Given the description of an element on the screen output the (x, y) to click on. 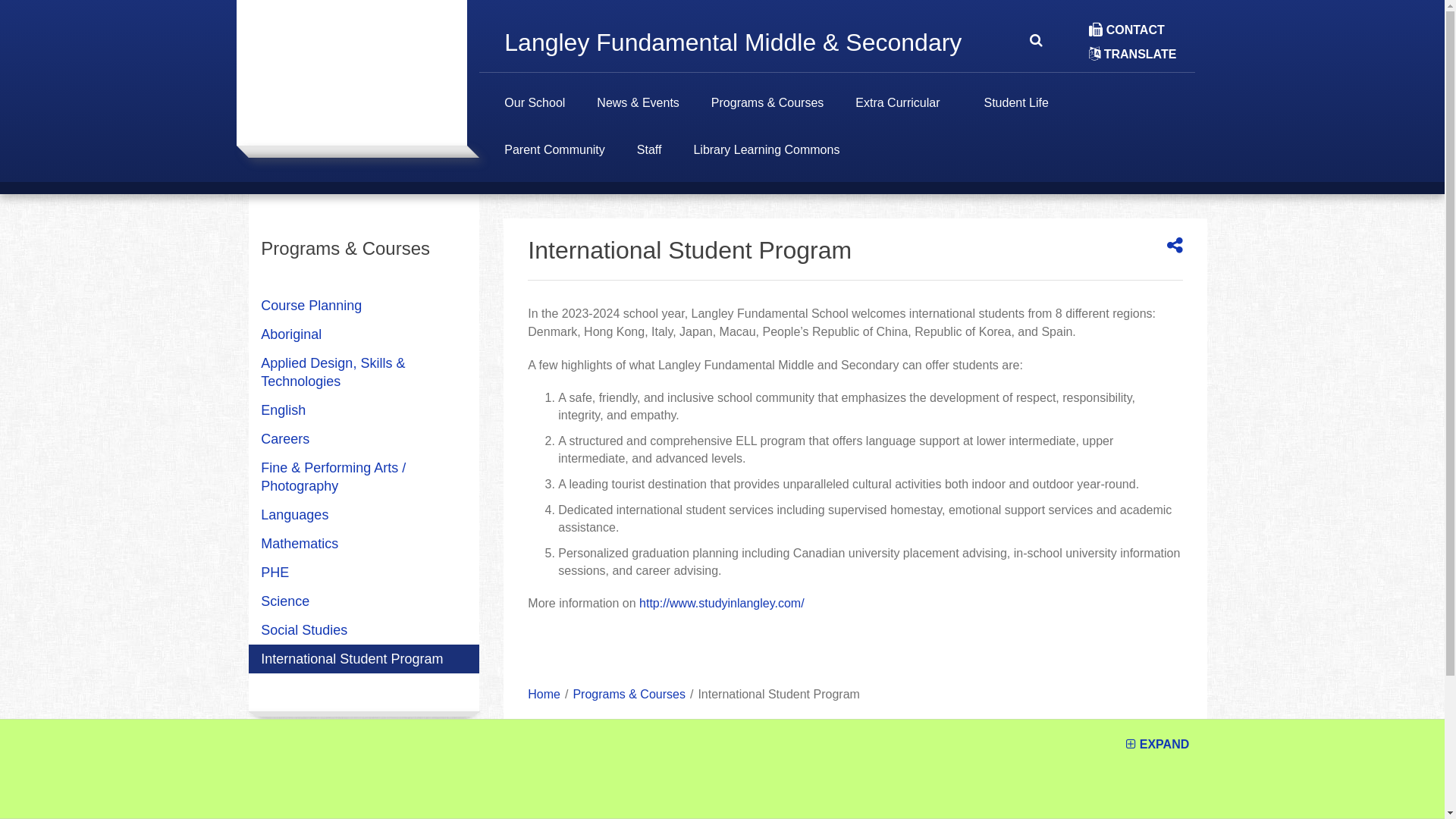
International Student Program Element type: text (363, 658)
Mathematics Element type: text (363, 543)
Programs & Courses Element type: text (767, 110)
Home Element type: text (543, 693)
 EXPAND Element type: text (1157, 744)
Extra Curricular Element type: text (897, 110)
Fine & Performing Arts / Photography Element type: text (363, 476)
Applied Design, Skills & Technologies Element type: text (363, 371)
Staff Element type: text (649, 158)
Careers Element type: text (363, 438)
Programs & Courses Element type: text (363, 265)
Social Studies Element type: text (363, 629)
 TRANSLATE Element type: text (1132, 53)
Our School Element type: text (534, 110)
Aboriginal Element type: text (363, 334)
Student Life Element type: text (1015, 110)
English Element type: text (363, 409)
Programs & Courses Element type: text (628, 693)
Science Element type: text (363, 600)
News & Events Element type: text (637, 110)
Library Learning Commons Element type: text (766, 158)
Parent Community Element type: text (554, 158)
PHE Element type: text (363, 572)
Course Planning Element type: text (363, 305)
SD35, Langley School District Element type: hover (351, 767)
Languages Element type: text (363, 514)
 CONTACT Element type: text (1126, 29)
http://www.studyinlangley.com/ Element type: text (721, 602)
